Given the description of an element on the screen output the (x, y) to click on. 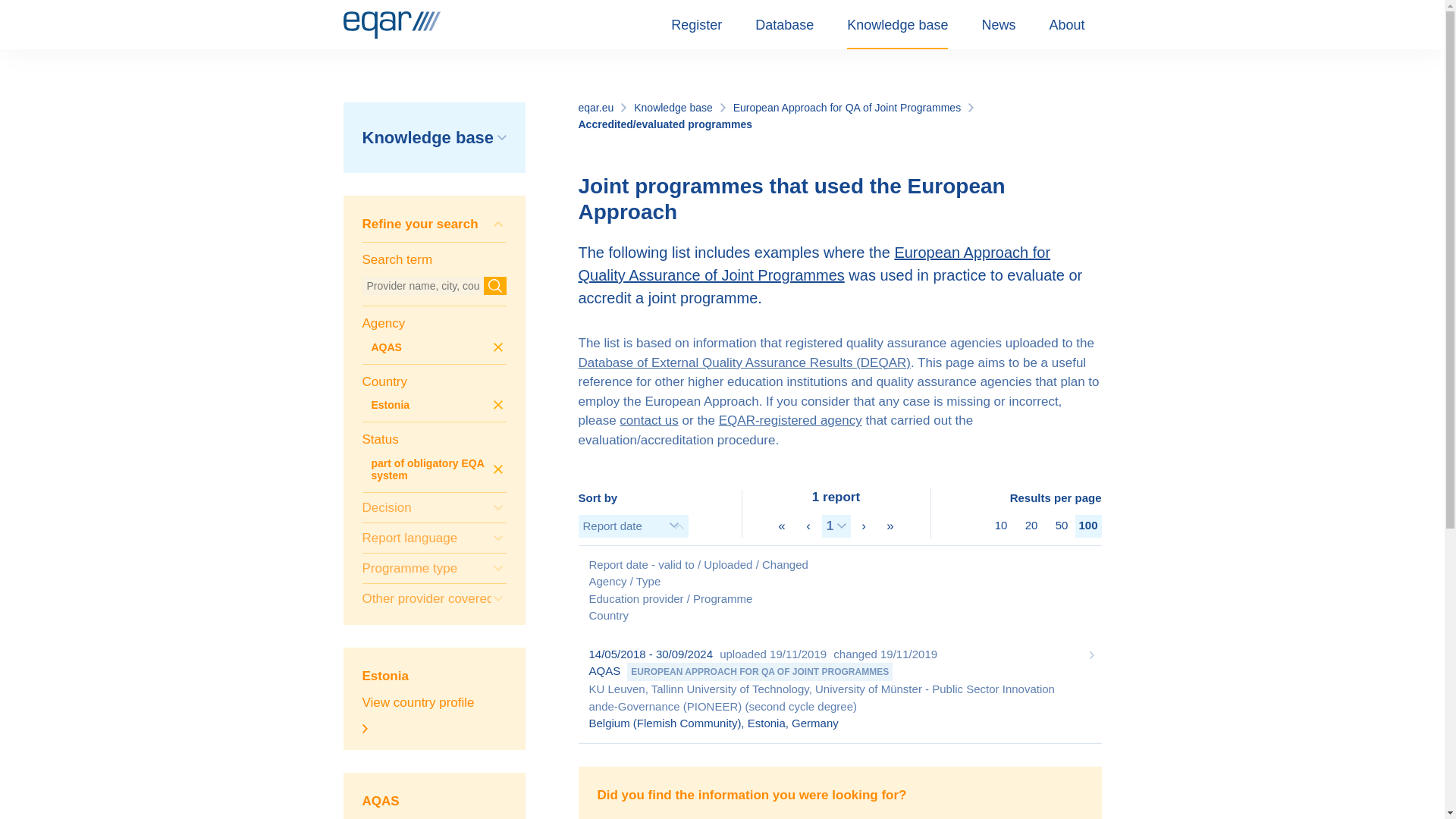
Database (784, 24)
Search (494, 285)
Select page (836, 526)
Provider name, city, country, ETER ID or DEQARINST ID (434, 267)
EQAR (390, 23)
Register (696, 24)
Search (494, 285)
